Given the description of an element on the screen output the (x, y) to click on. 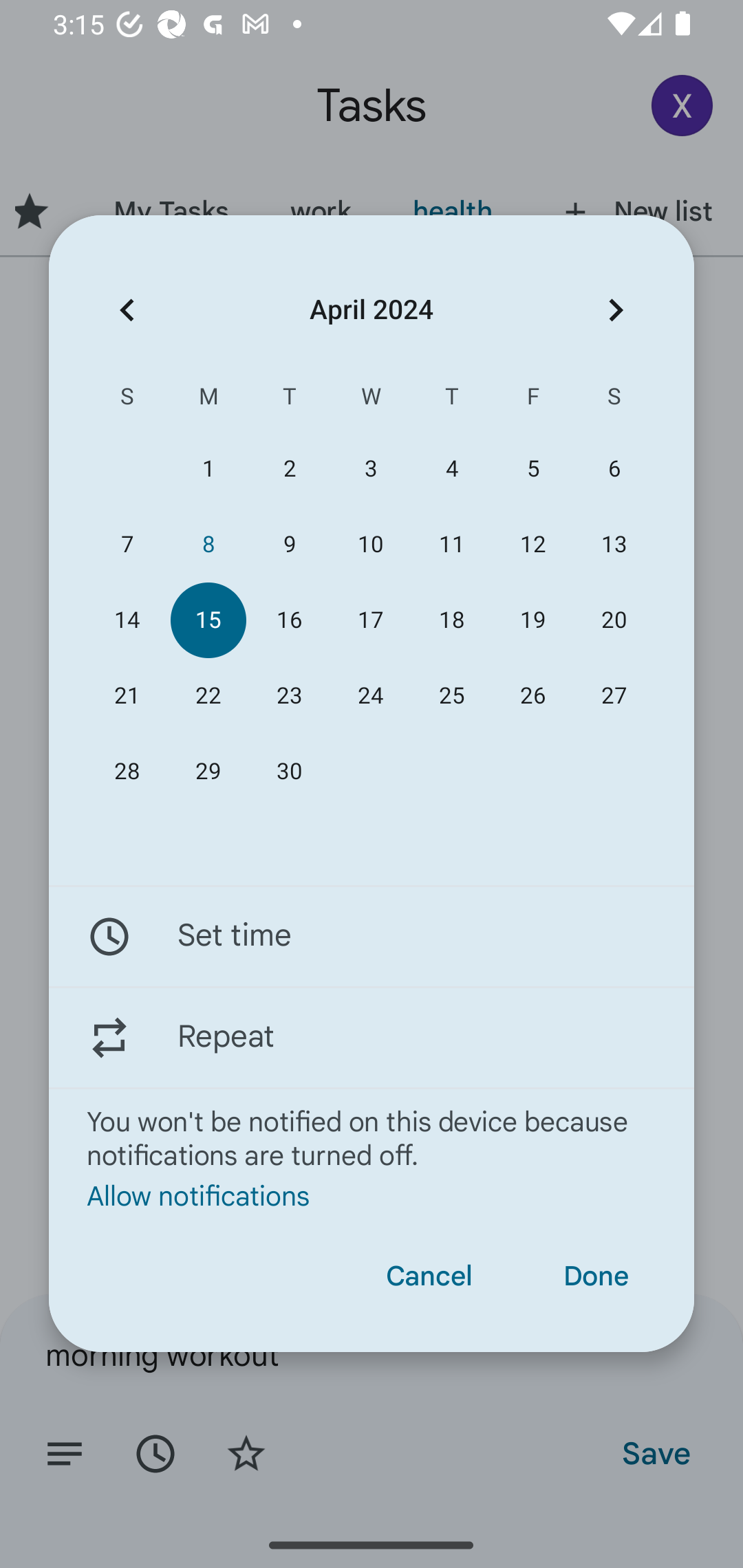
Previous month (126, 309)
Next month (615, 309)
1 01 April 2024 (207, 468)
2 02 April 2024 (288, 468)
3 03 April 2024 (370, 468)
4 04 April 2024 (451, 468)
5 05 April 2024 (532, 468)
6 06 April 2024 (613, 468)
7 07 April 2024 (126, 543)
8 08 April 2024 (207, 543)
9 09 April 2024 (288, 543)
10 10 April 2024 (370, 543)
11 11 April 2024 (451, 543)
12 12 April 2024 (532, 543)
13 13 April 2024 (613, 543)
14 14 April 2024 (126, 619)
15 15 April 2024 (207, 619)
16 16 April 2024 (288, 619)
17 17 April 2024 (370, 619)
18 18 April 2024 (451, 619)
19 19 April 2024 (532, 619)
20 20 April 2024 (613, 619)
21 21 April 2024 (126, 695)
22 22 April 2024 (207, 695)
23 23 April 2024 (288, 695)
24 24 April 2024 (370, 695)
25 25 April 2024 (451, 695)
26 26 April 2024 (532, 695)
27 27 April 2024 (613, 695)
28 28 April 2024 (126, 771)
29 29 April 2024 (207, 771)
30 30 April 2024 (288, 771)
Set time (371, 936)
Repeat (371, 1036)
Allow notifications (371, 1195)
Cancel (429, 1275)
Done (595, 1275)
